Given the description of an element on the screen output the (x, y) to click on. 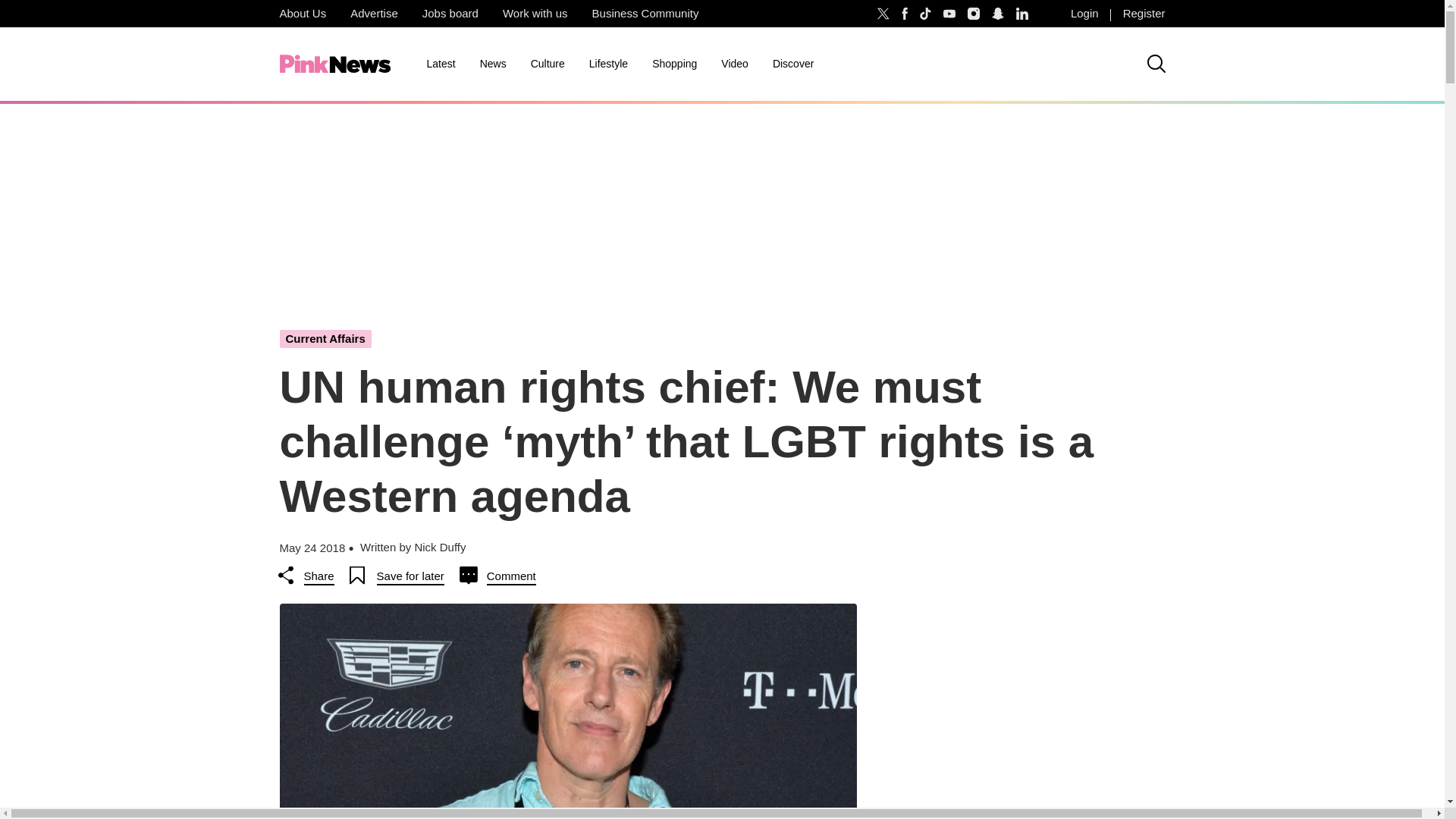
Follow PinkNews on LinkedIn (1021, 13)
Latest (440, 63)
News (493, 63)
Jobs board (450, 13)
Register (1143, 13)
Work with us (534, 13)
Culture (547, 63)
About Us (301, 13)
Login (1084, 13)
Lifestyle (608, 63)
Advertise (373, 13)
Business Community (645, 13)
